Given the description of an element on the screen output the (x, y) to click on. 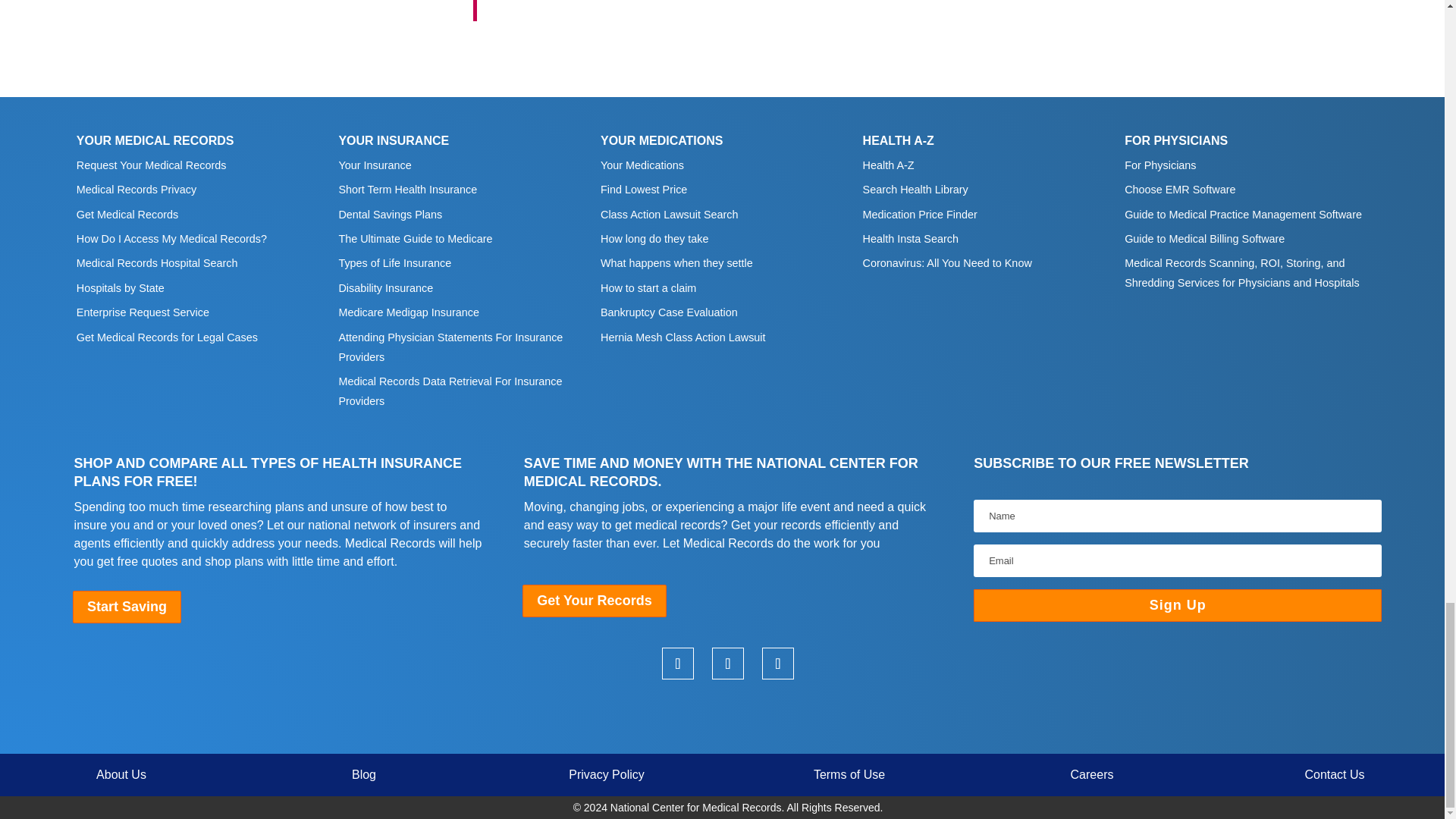
Follow on X (727, 663)
Follow on LinkedIn (678, 663)
medicalrecords.com (727, 716)
Follow on Facebook (777, 663)
